Given the description of an element on the screen output the (x, y) to click on. 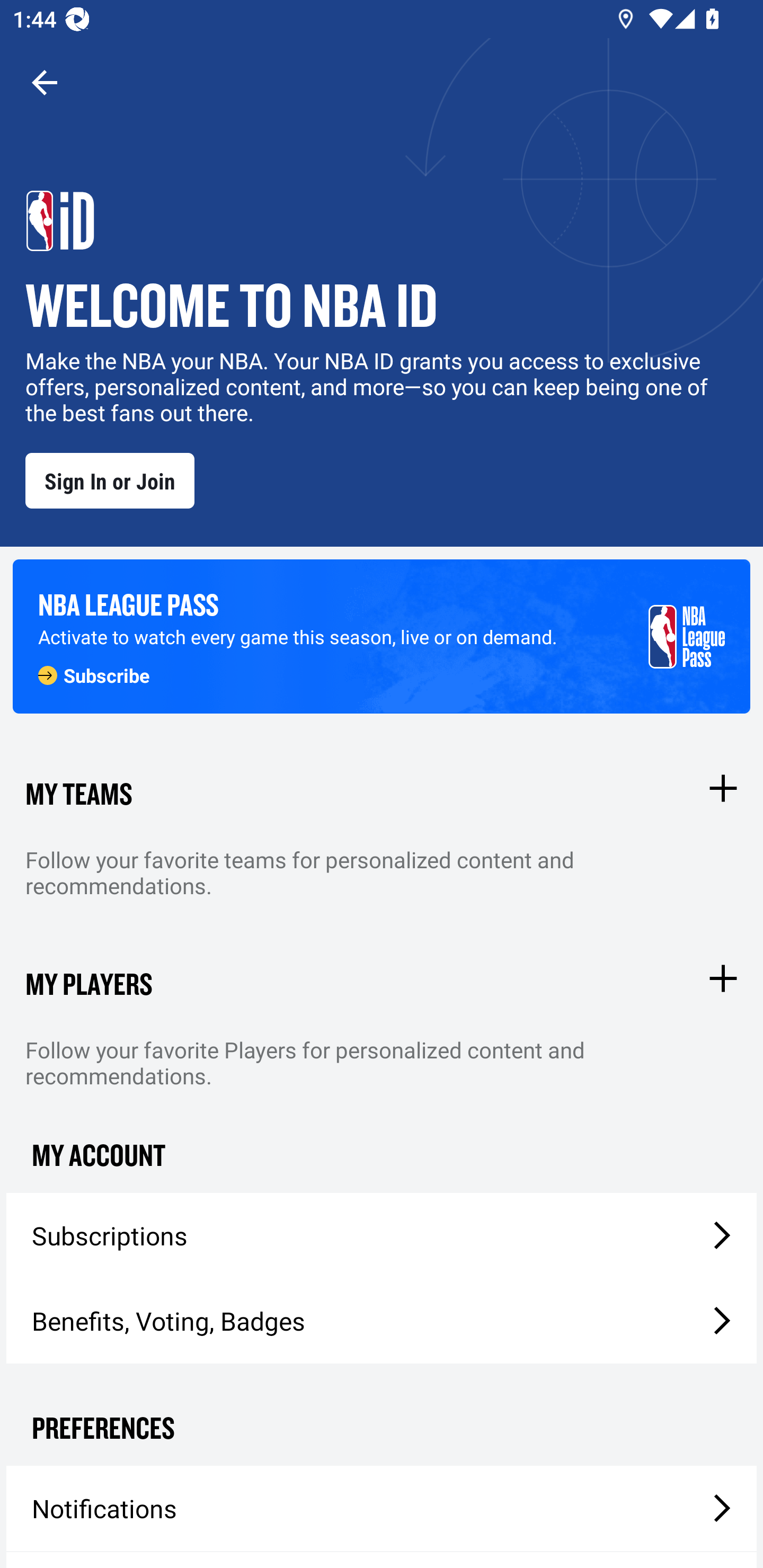
Navigate up (44, 82)
Sign In or Join (109, 480)
Subscriptions (381, 1235)
Benefits, Voting, Badges (381, 1320)
Notifications (381, 1508)
